Given the description of an element on the screen output the (x, y) to click on. 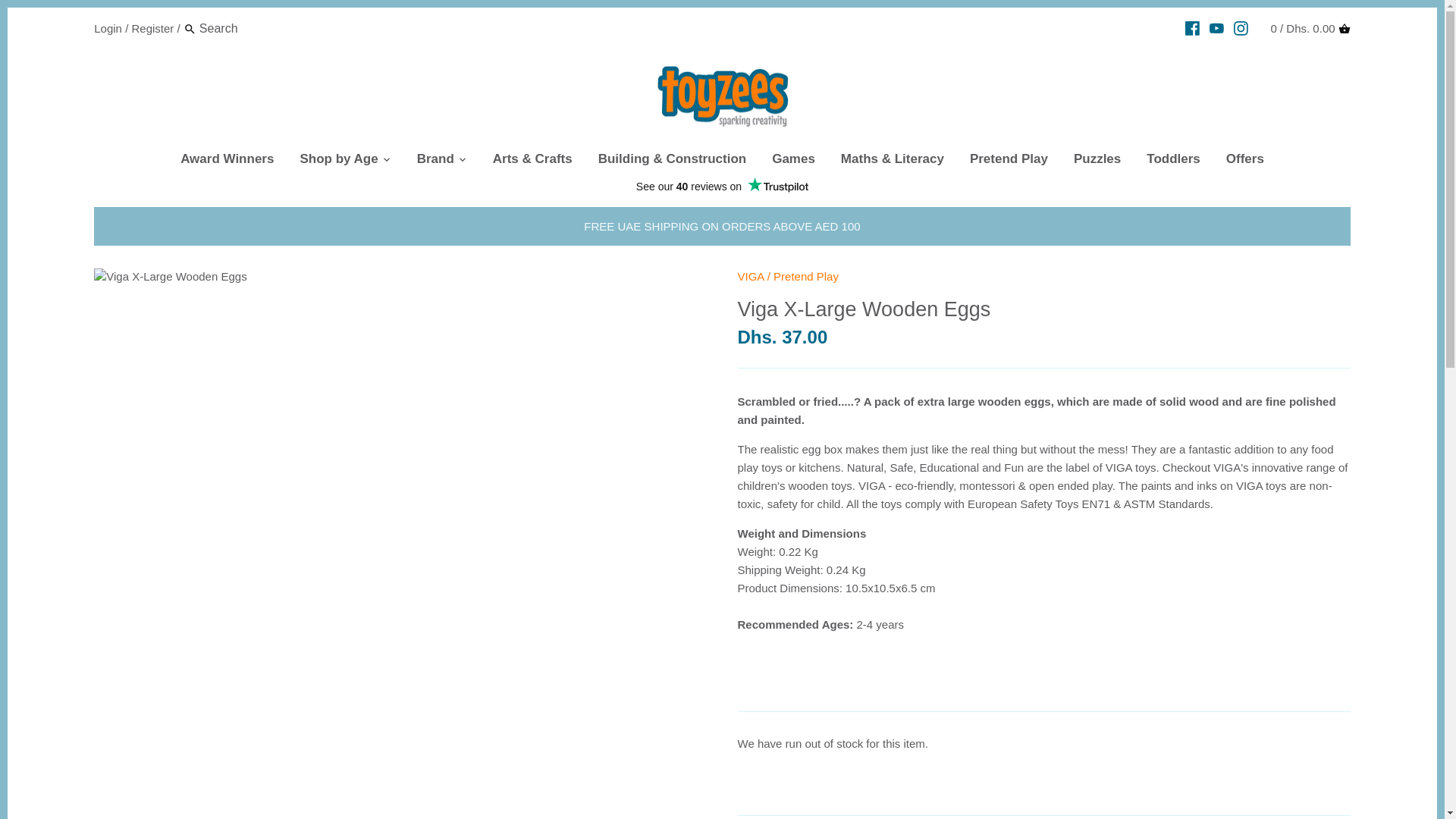
Brand (435, 161)
Shop by Age (338, 161)
Search (189, 29)
Instagram (1240, 27)
Facebook (1192, 27)
Instagram (1240, 27)
Facebook (1192, 27)
Instagram (1240, 28)
Youtube (1216, 27)
Login (108, 27)
Cart (1344, 28)
Facebook (1192, 28)
Search (189, 29)
Customer reviews powered by Trustpilot (722, 186)
Award Winners (226, 161)
